Given the description of an element on the screen output the (x, y) to click on. 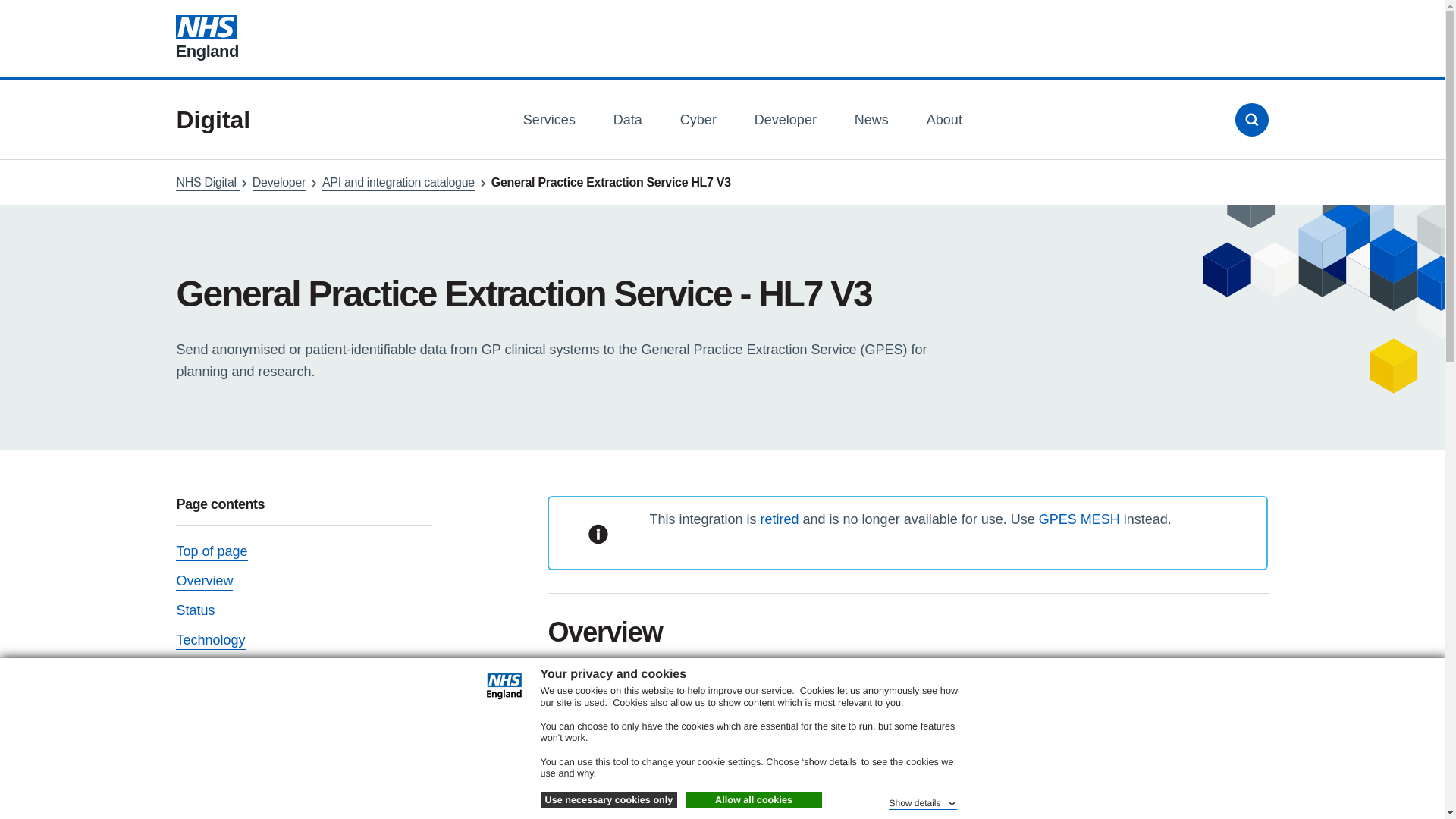
Show details (923, 800)
Allow all cookies (753, 800)
Use necessary cookies only (609, 800)
